Given the description of an element on the screen output the (x, y) to click on. 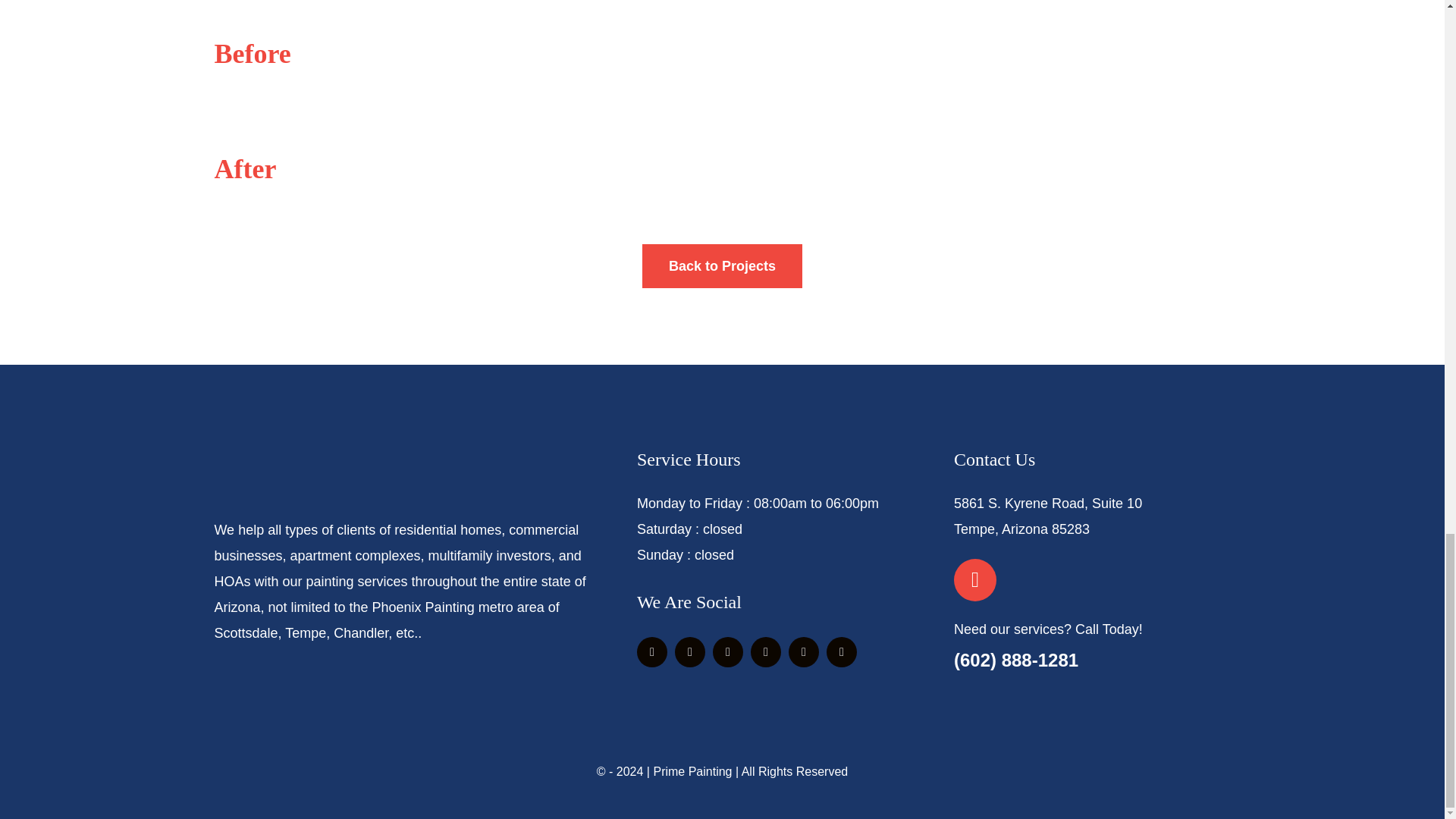
Facebook (651, 652)
separator-light (722, 729)
Twitter (689, 652)
LinkedIn (842, 652)
Pinterest (765, 652)
Instagram (727, 652)
YouTube (803, 652)
